Given the description of an element on the screen output the (x, y) to click on. 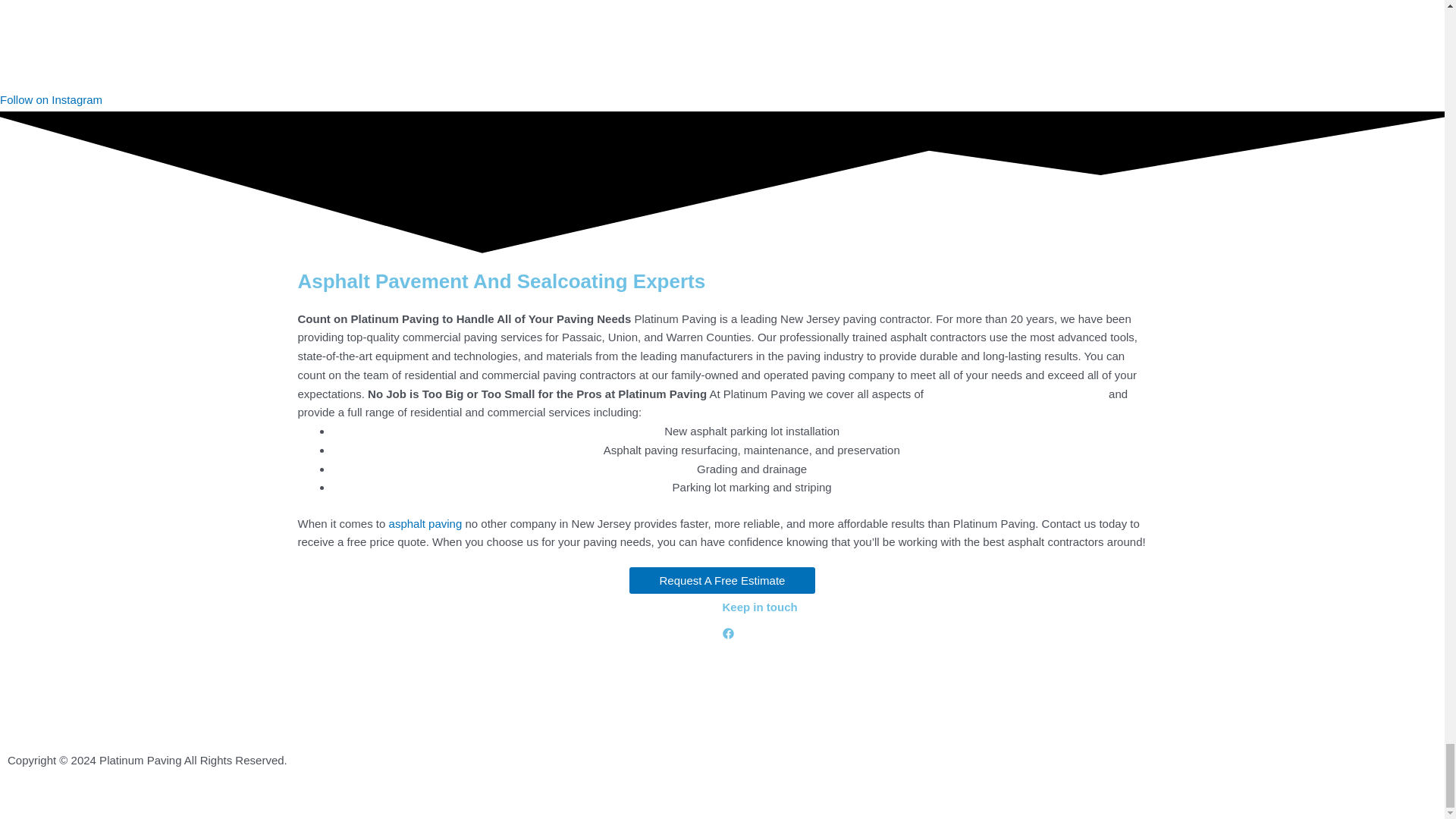
Asphalt Paving Areas Served (86, 729)
Paving Contractor Areas Served (94, 698)
asphalt paving in Morris County, NJ (1015, 393)
Asphalt Paving (425, 522)
asphalt paving (425, 522)
Request A Free Estimate (721, 580)
